Given the description of an element on the screen output the (x, y) to click on. 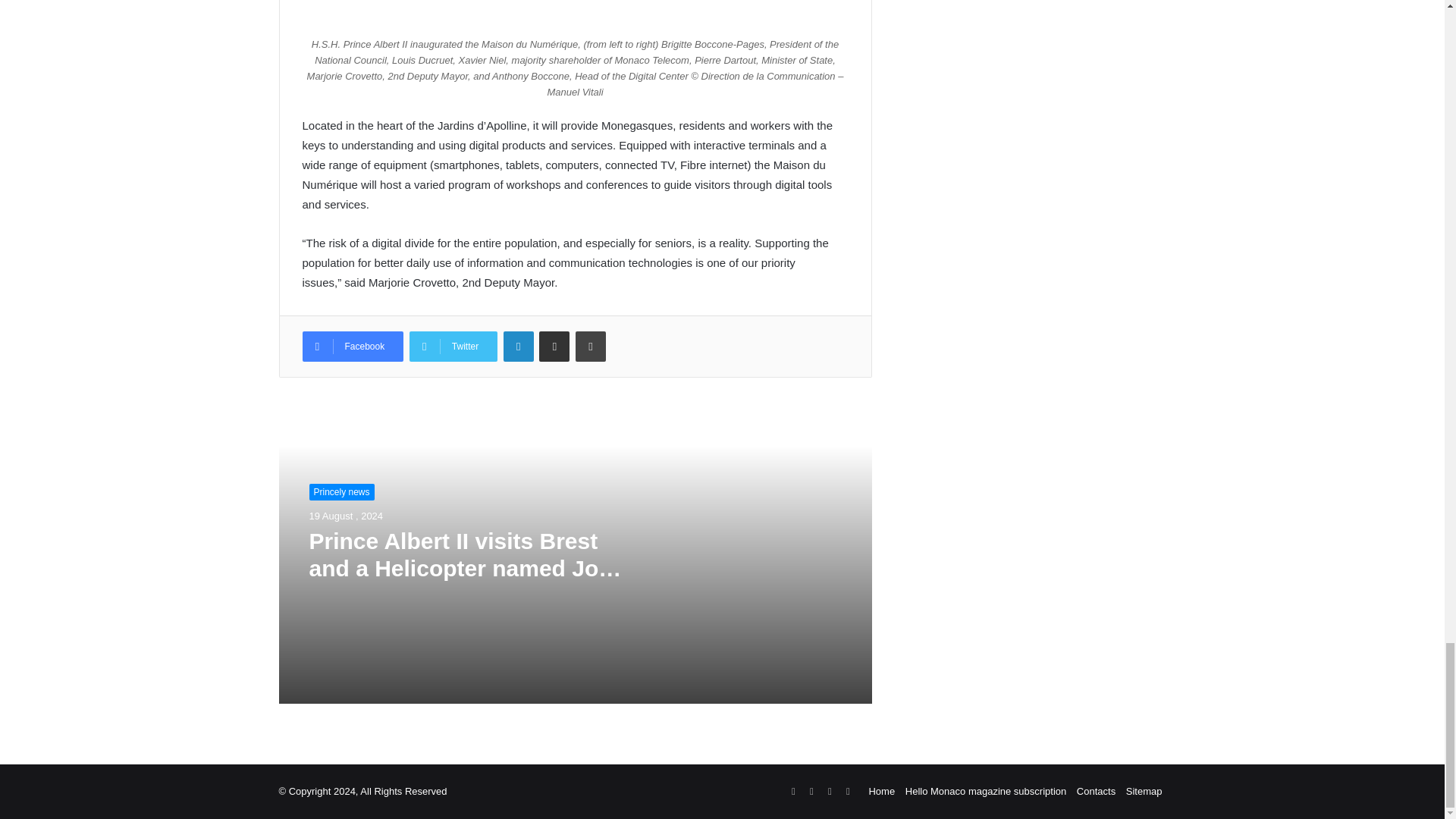
LinkedIn (518, 346)
Share via Email (553, 346)
Facebook (352, 346)
Print (590, 346)
Twitter (453, 346)
